Given the description of an element on the screen output the (x, y) to click on. 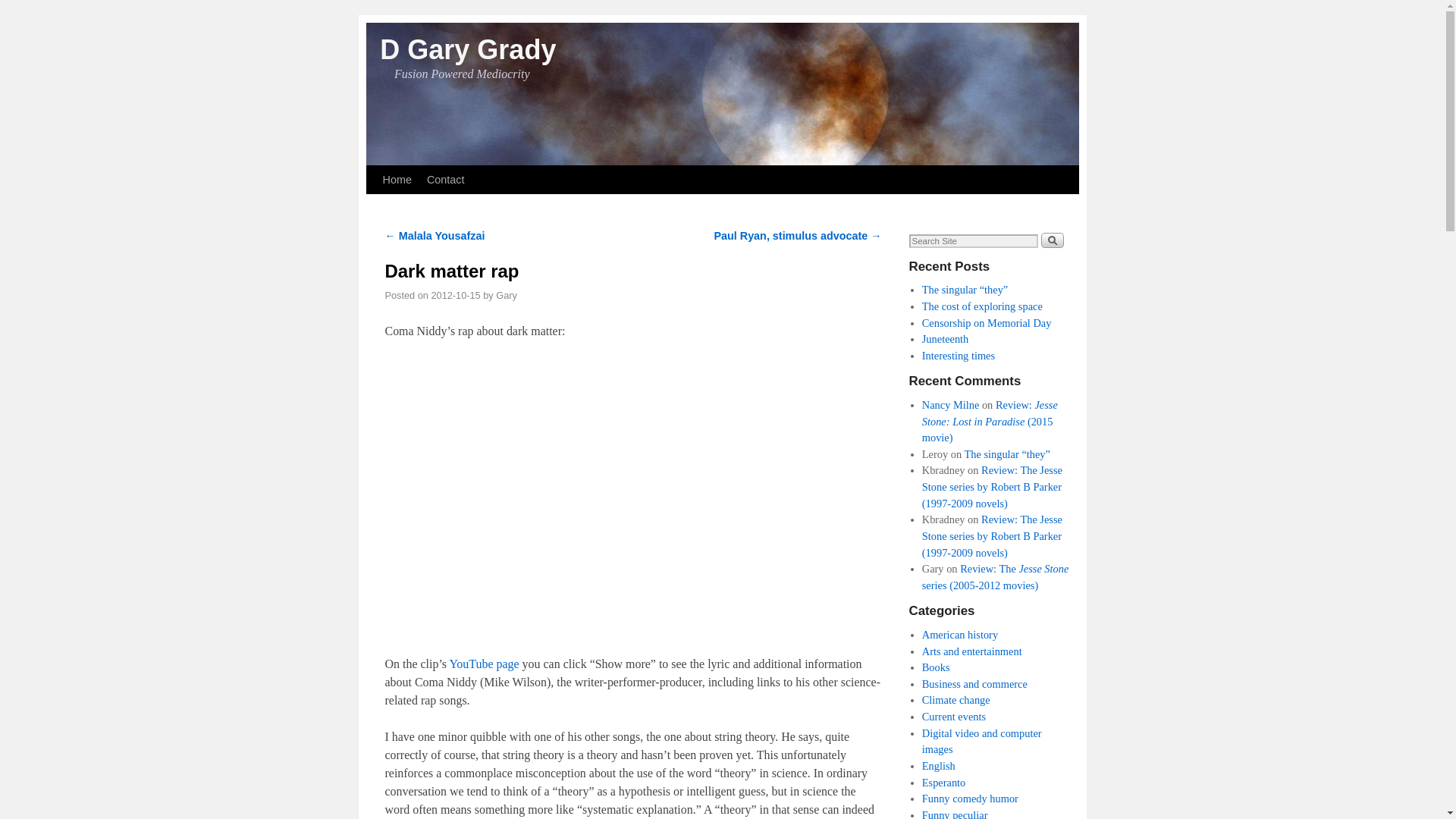
Home (396, 179)
Interesting times (957, 355)
Skip to secondary content (412, 172)
Gary (506, 295)
Juneteenth (945, 338)
Skip to primary content (408, 172)
Nancy Milne (950, 404)
10:45 (455, 295)
D Gary Grady (468, 49)
View all posts by Gary (506, 295)
